Given the description of an element on the screen output the (x, y) to click on. 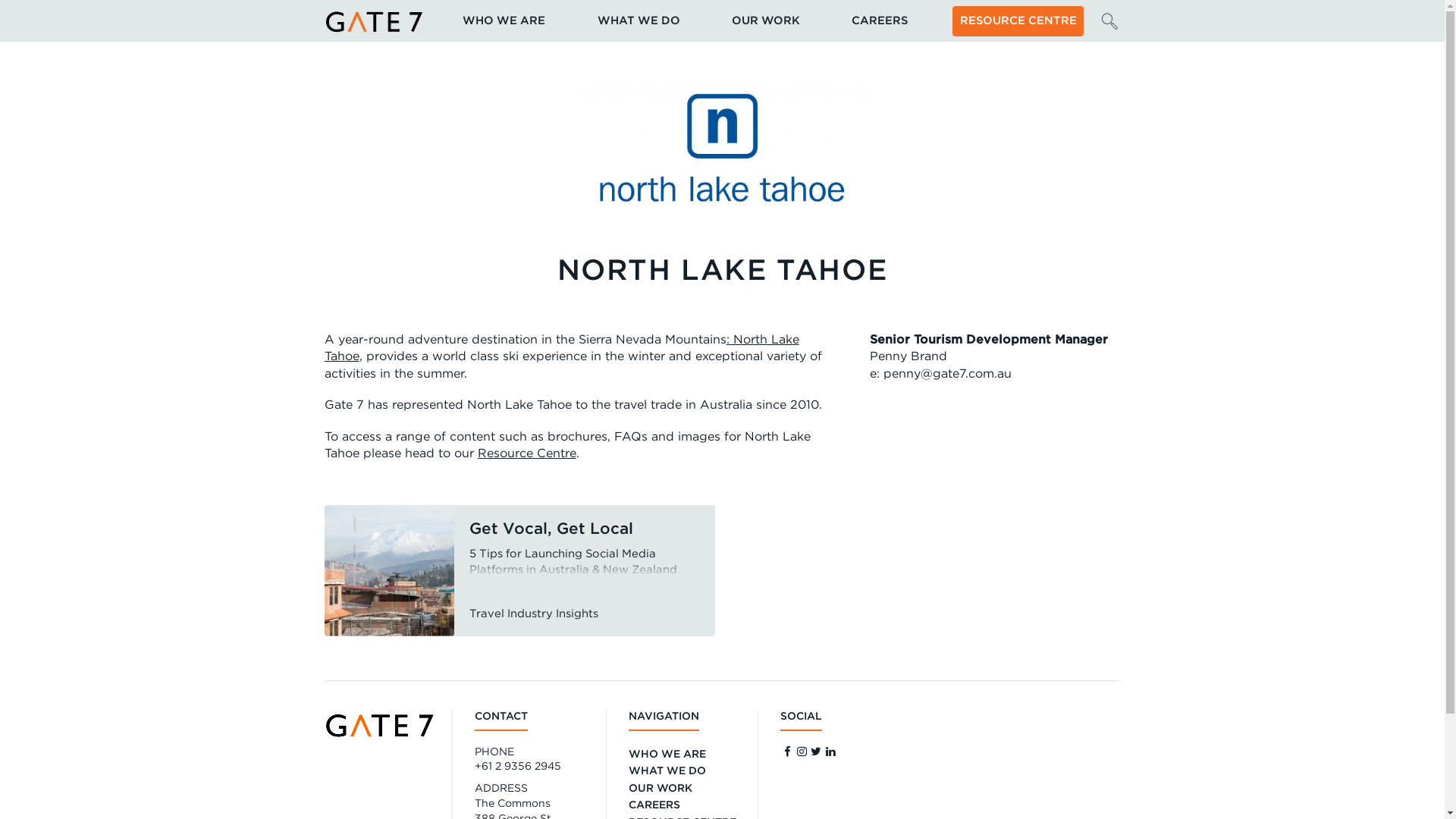
Get Vocal, Get Local Element type: text (551, 527)
OUR WORK Element type: text (765, 21)
WHO WE ARE Element type: text (503, 21)
CAREERS Element type: text (654, 804)
  Element type: text (519, 570)
LINKEDIN Element type: text (831, 751)
RESOURCE CENTRE Element type: text (1017, 21)
CAREERS Element type: text (879, 21)
: North Lake Tahoe Element type: text (561, 347)
FACEBOOK Element type: text (787, 751)
penny@gate7.com.au Element type: text (947, 372)
WHAT WE DO Element type: text (638, 21)
Resource Centre Element type: text (526, 452)
INSTAGRAM Element type: text (801, 751)
WHO WE ARE Element type: text (667, 754)
WHAT WE DO Element type: text (667, 770)
TWITTER Element type: text (816, 751)
OUR WORK Element type: text (660, 788)
